Given the description of an element on the screen output the (x, y) to click on. 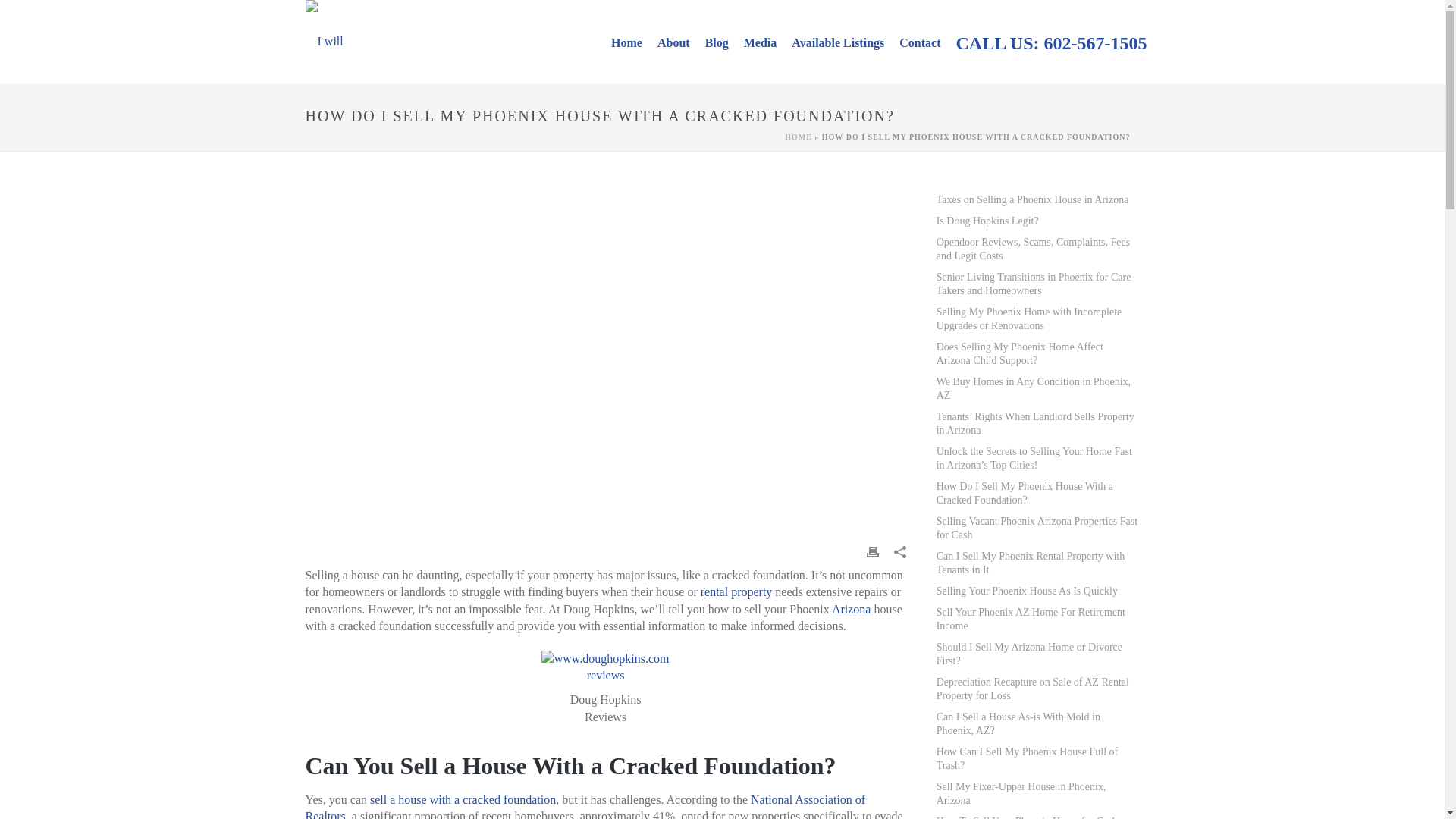
Arizona (850, 608)
CALL US: 602-567-1505 (1050, 41)
sell a house with a cracked foundation (462, 799)
CALL US: 602-567-1505 (1050, 41)
Available Listings (837, 41)
Available Listings (837, 41)
rental property (736, 591)
National Association of Realtors (584, 806)
